Given the description of an element on the screen output the (x, y) to click on. 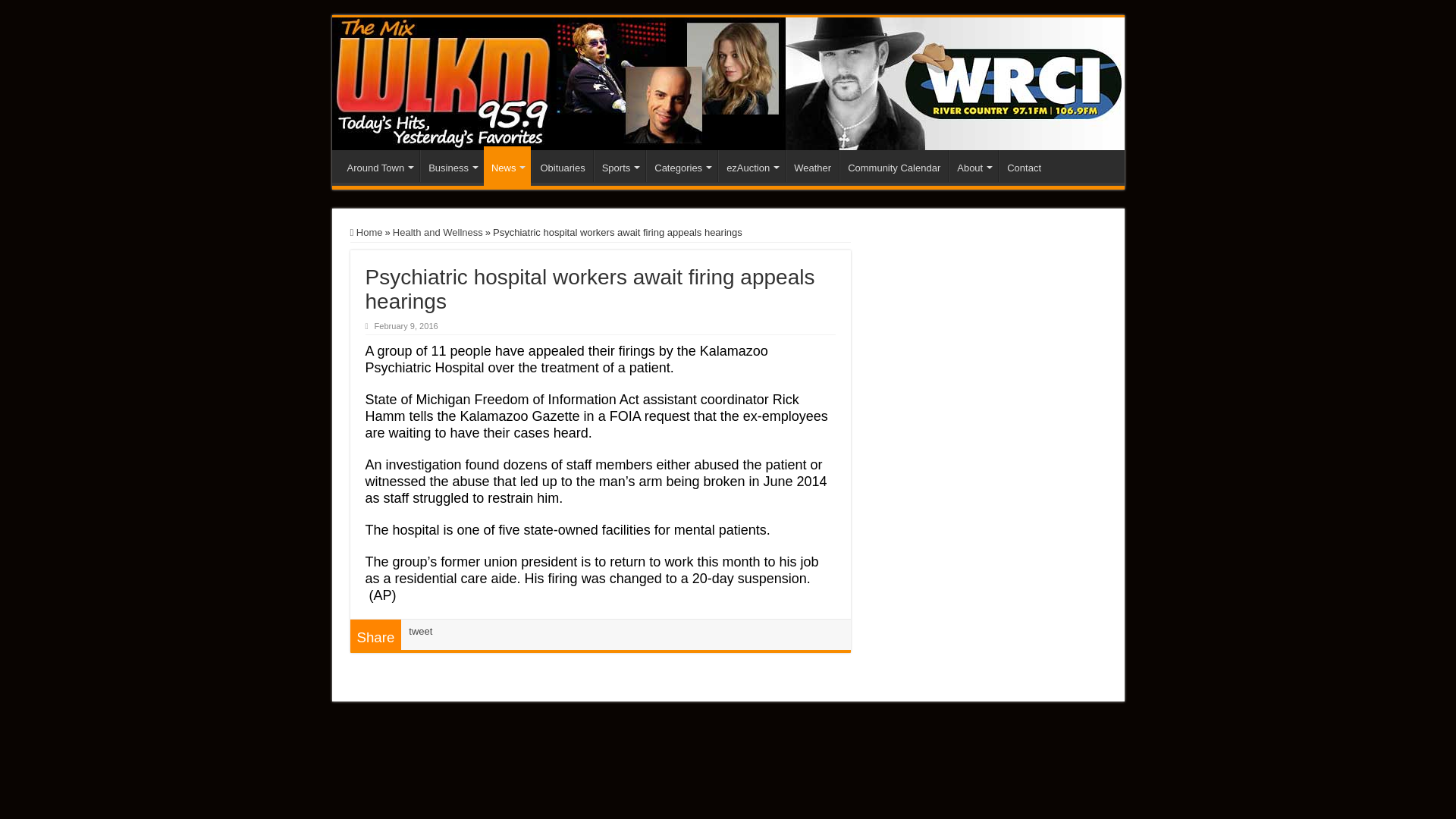
Sports (620, 165)
Obituaries (561, 165)
Categories (681, 165)
News (507, 165)
WLKM Radio 95.9 FM (727, 83)
Business (451, 165)
Around Town (379, 165)
